Given the description of an element on the screen output the (x, y) to click on. 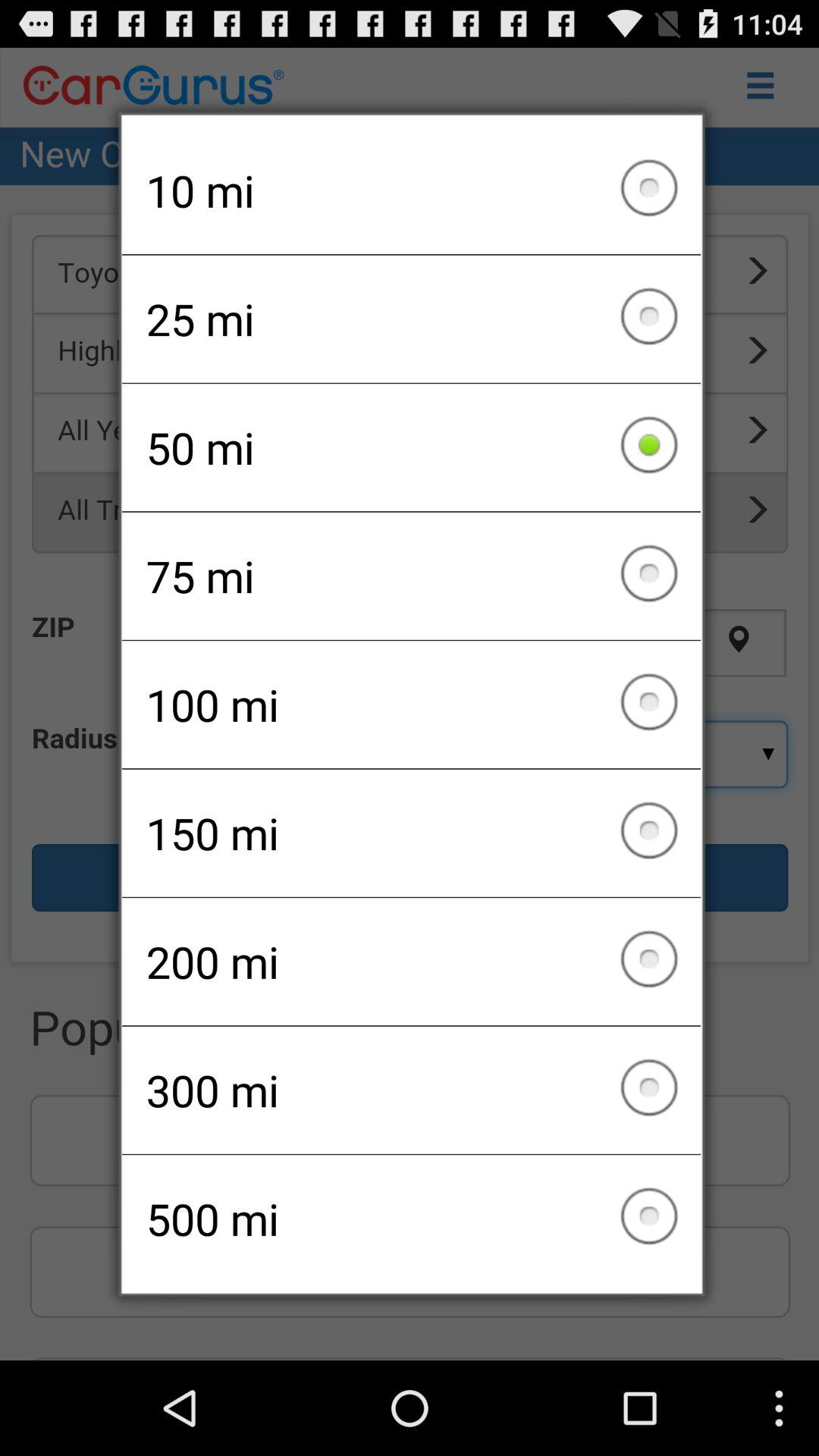
jump to the 75 mi item (411, 575)
